Given the description of an element on the screen output the (x, y) to click on. 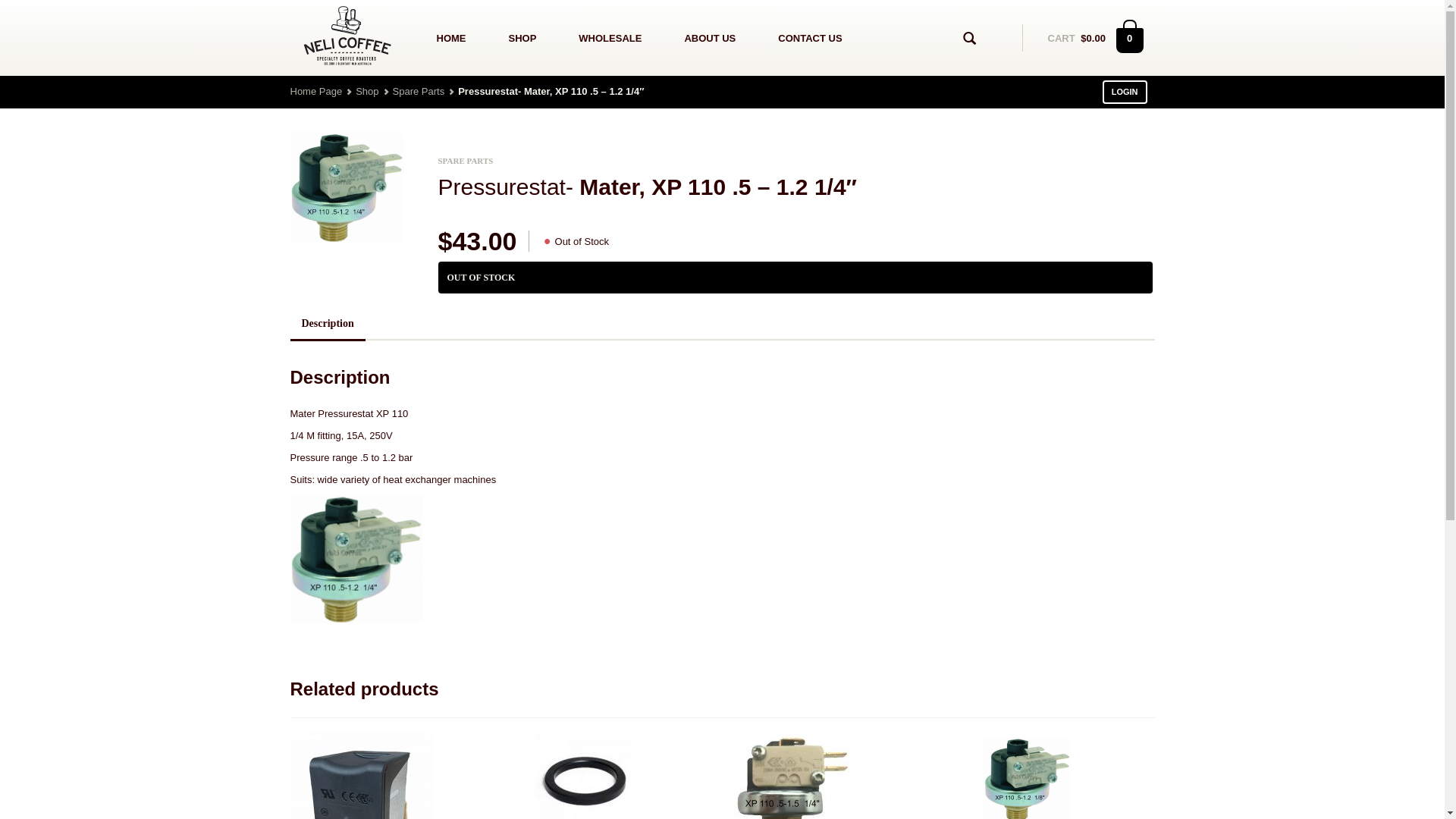
ABOUT US Element type: text (709, 37)
LOGIN Element type: text (1124, 91)
0 Element type: text (1129, 39)
SPARE PARTS Element type: text (465, 160)
Mater Pressurestat XP110 .5-1 Element type: hover (346, 186)
Spare Parts Element type: text (418, 91)
WHOLESALE Element type: text (609, 37)
HOME Element type: text (451, 37)
Home Page Element type: text (315, 91)
Shop Element type: text (366, 91)
Description Element type: text (326, 324)
SHOP Element type: text (521, 37)
CONTACT US Element type: text (809, 37)
